Given the description of an element on the screen output the (x, y) to click on. 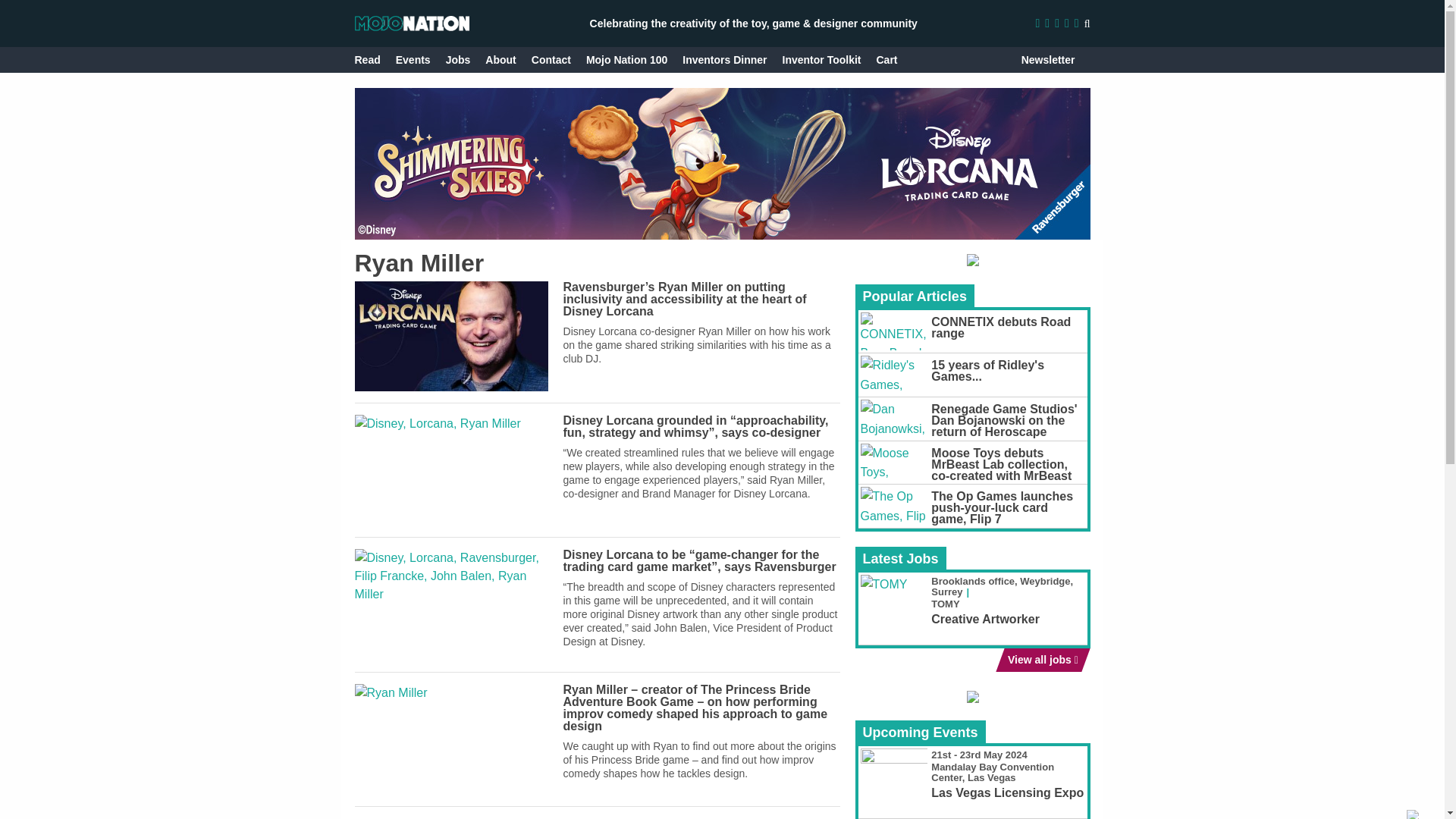
All jobs (1038, 659)
Go (1072, 59)
Inventors Dinner (724, 59)
Newsletter (1048, 59)
Jobs (457, 59)
About (499, 59)
Mojo Nation 100 (626, 59)
Contact (550, 59)
Inventor Toolkit (822, 59)
Events (413, 59)
